Given the description of an element on the screen output the (x, y) to click on. 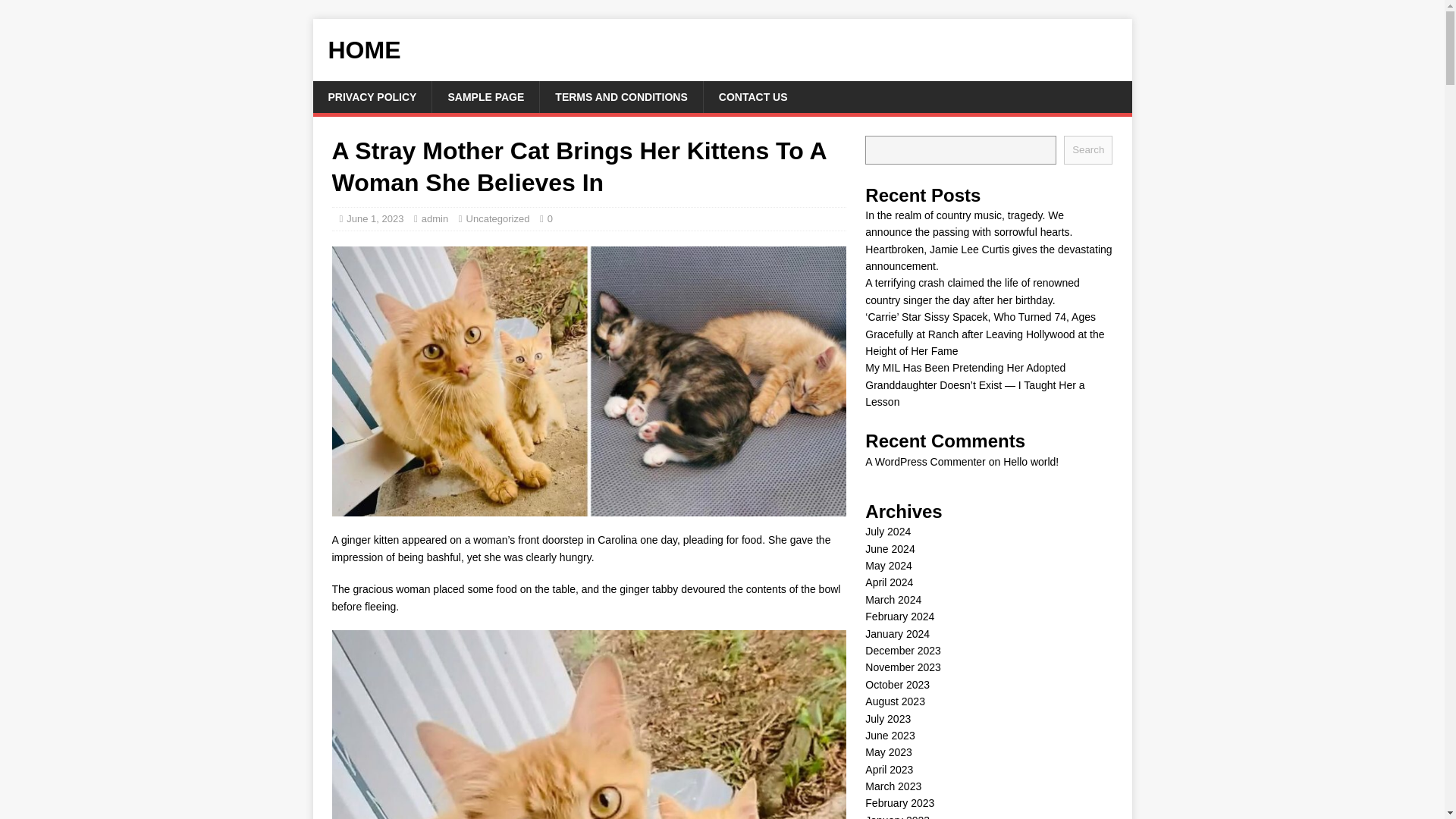
A WordPress Commenter (924, 461)
November 2023 (902, 666)
February 2024 (899, 616)
May 2023 (887, 752)
TERMS AND CONDITIONS (619, 97)
March 2024 (892, 599)
October 2023 (897, 684)
CONTACT US (753, 97)
August 2023 (894, 701)
